Given the description of an element on the screen output the (x, y) to click on. 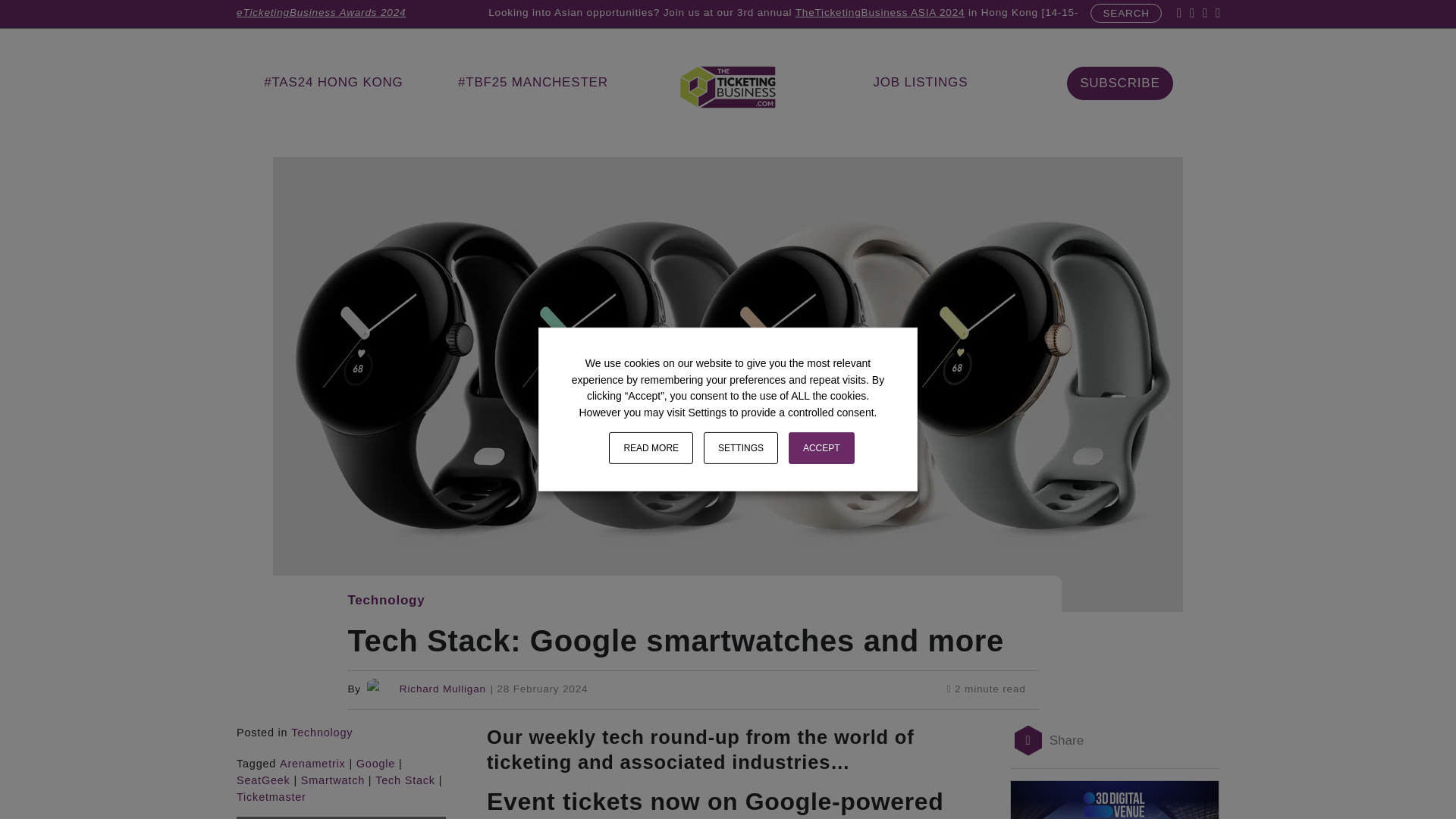
Newsletter Sign-up (1119, 82)
Job Listings (920, 82)
